Given the description of an element on the screen output the (x, y) to click on. 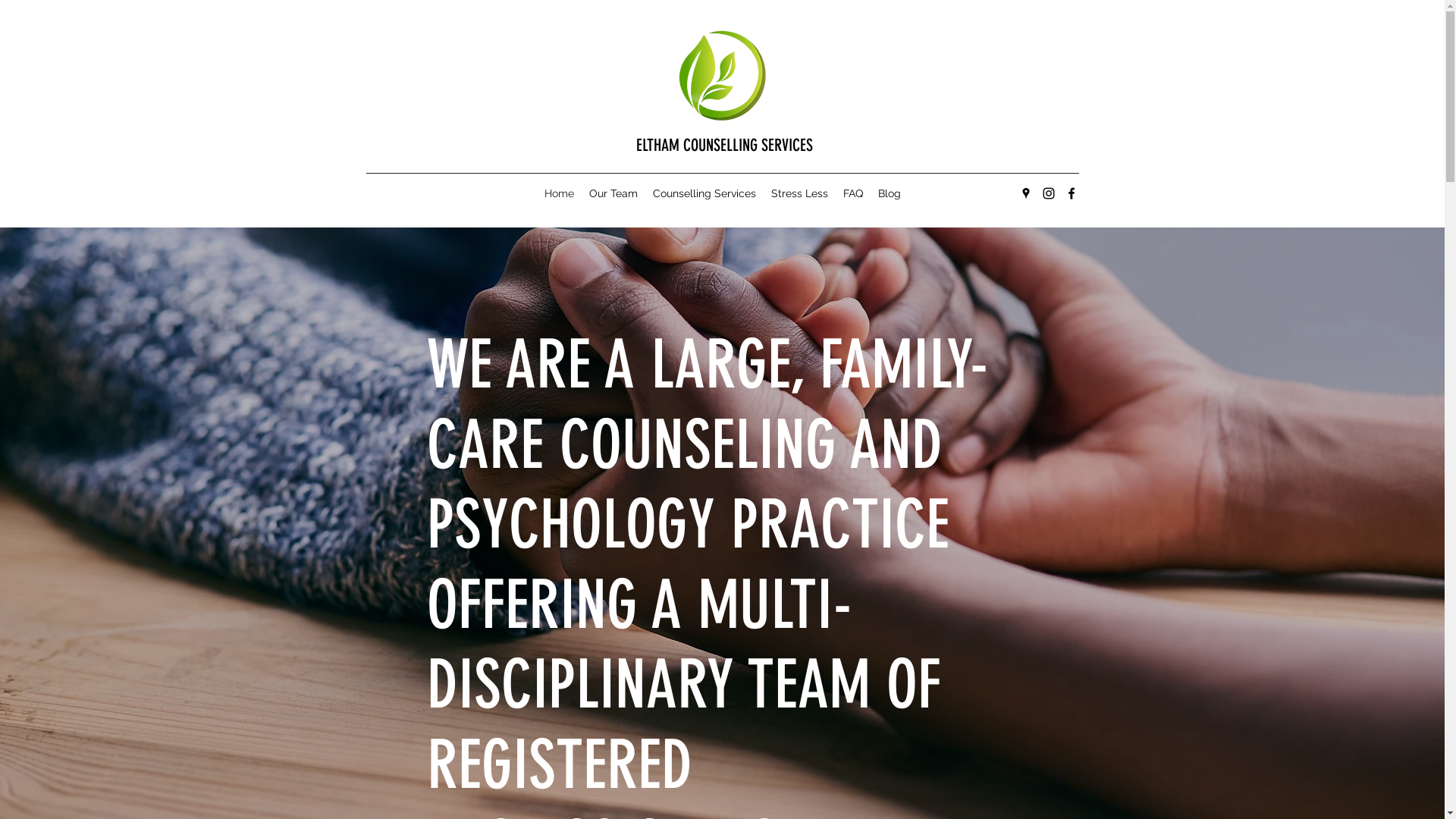
Blog Element type: text (889, 193)
FAQ Element type: text (852, 193)
Stress Less Element type: text (798, 193)
Home Element type: text (558, 193)
Counselling Services Element type: text (703, 193)
ELTHAM COUNSELLING SERVICES Element type: text (724, 144)
Our Team Element type: text (612, 193)
